Given the description of an element on the screen output the (x, y) to click on. 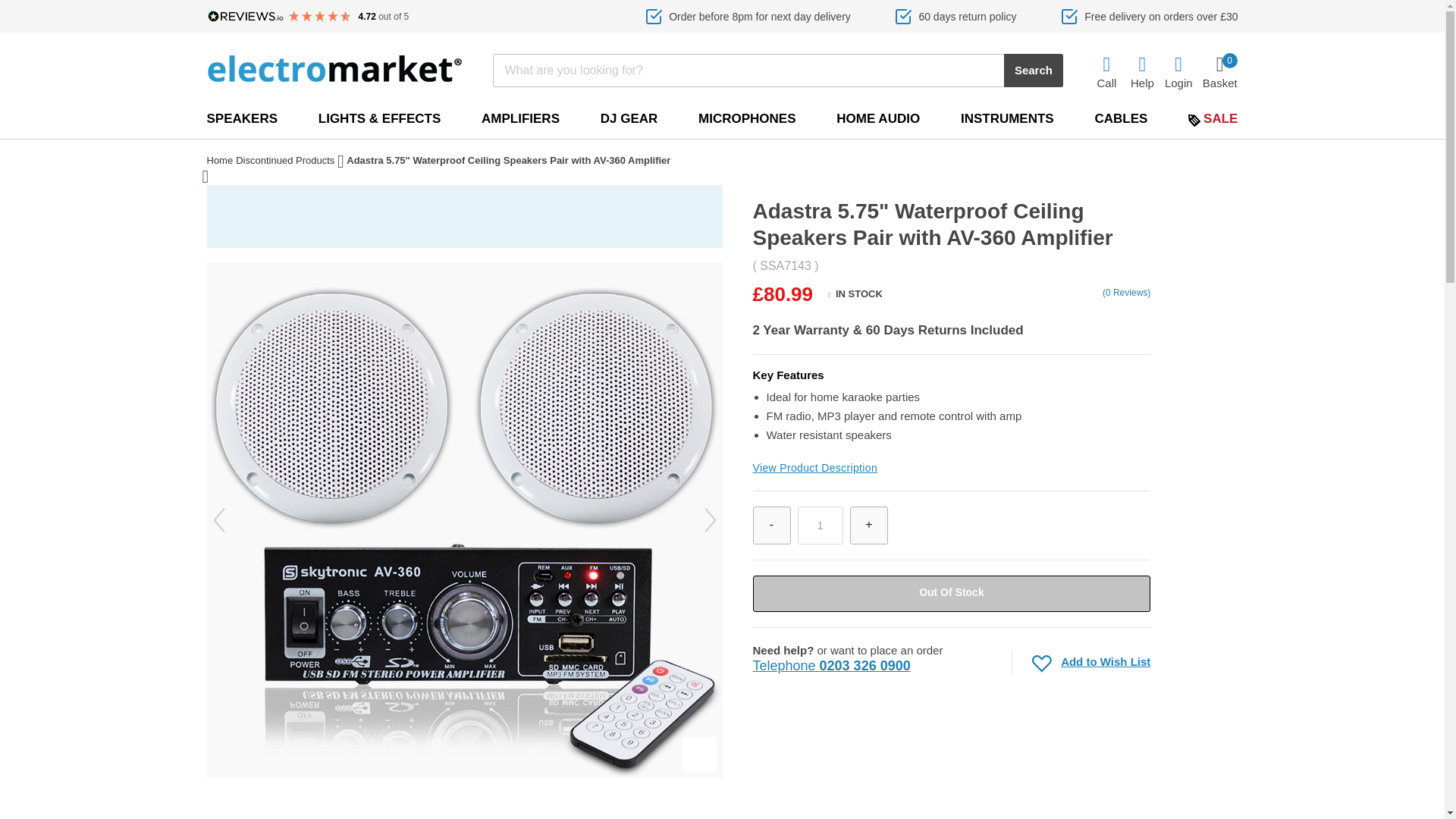
Availability (855, 295)
- (771, 525)
Anchor to full description (814, 468)
Out Of Stock (951, 593)
Search (1033, 70)
Go to Home Page (219, 161)
Qty (820, 525)
4.72 out of 5 (307, 16)
ElectroMarket (333, 68)
1 (1219, 71)
ElectroMarket (820, 525)
